Given the description of an element on the screen output the (x, y) to click on. 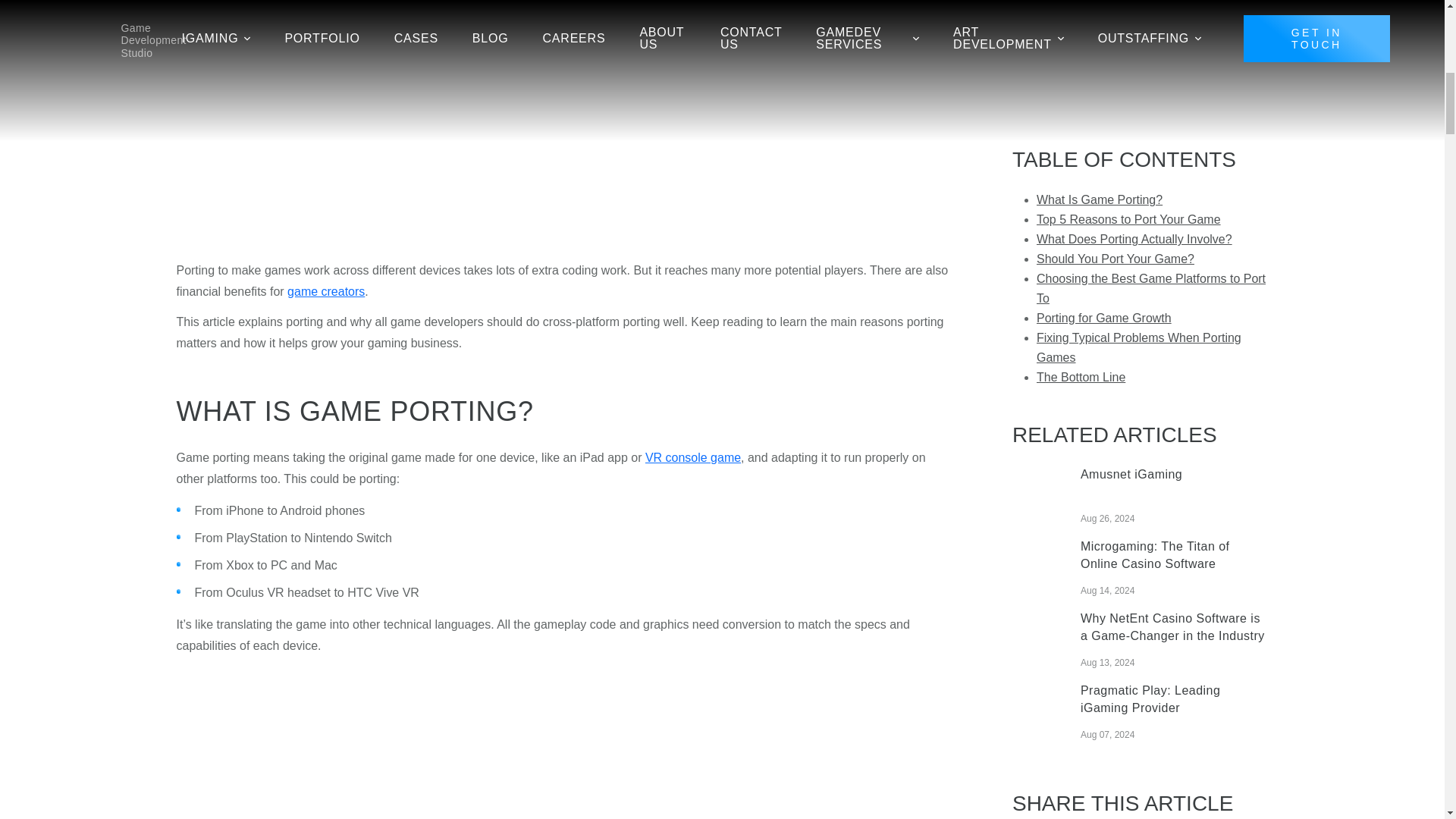
YouTube video player (387, 742)
LinkedIn (1127, 398)
Twitter (1079, 398)
Facebook (1029, 398)
